Given the description of an element on the screen output the (x, y) to click on. 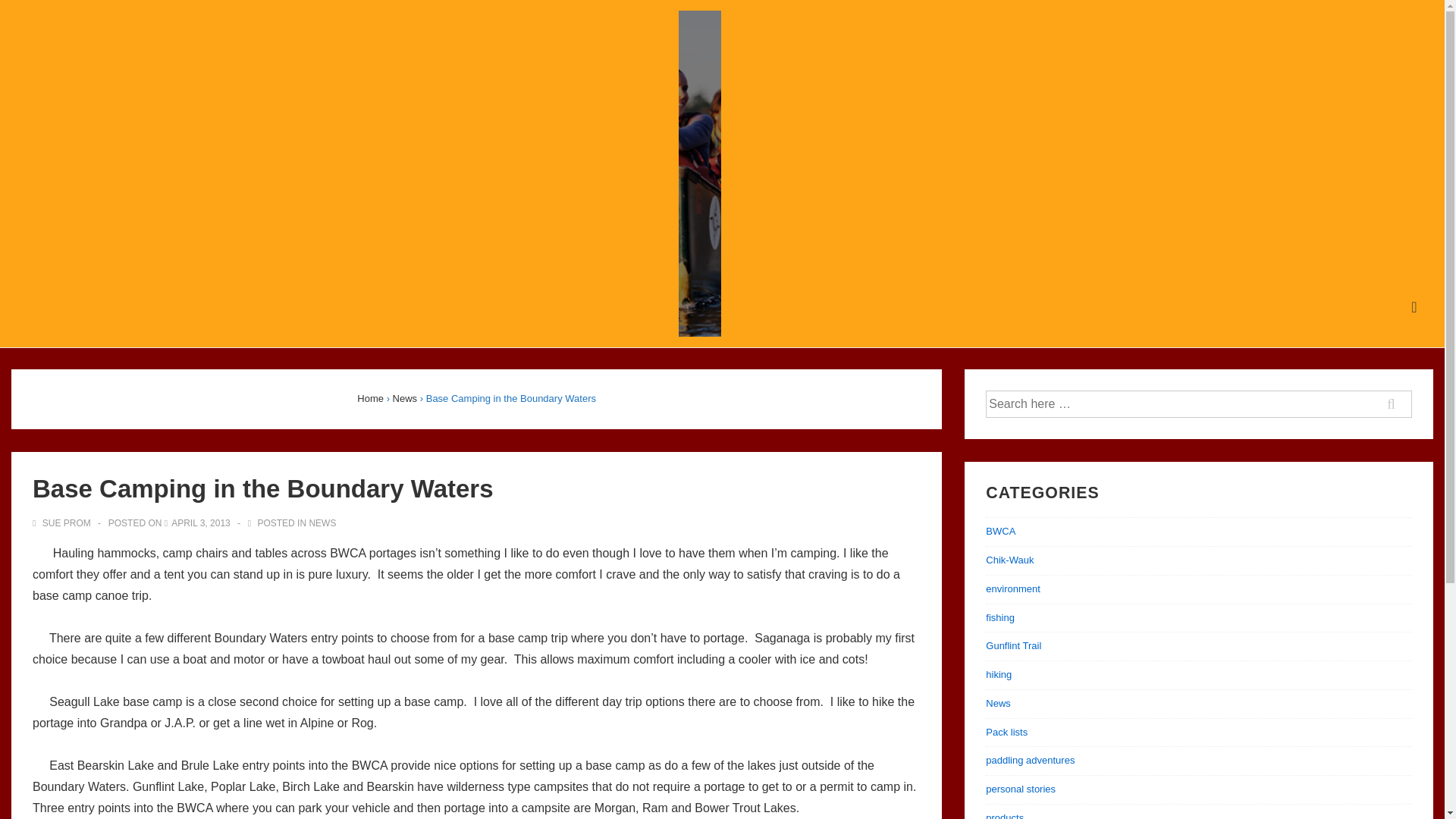
MENU (1414, 307)
APRIL 3, 2013 (200, 522)
Gunflint Trail (1013, 645)
products (1004, 815)
Pack lists (1006, 731)
NEWS (322, 522)
Base Camping in the Boundary Waters (200, 522)
Chik-Wauk (1009, 559)
SUE PROM (62, 522)
paddling adventures (1029, 759)
